Given the description of an element on the screen output the (x, y) to click on. 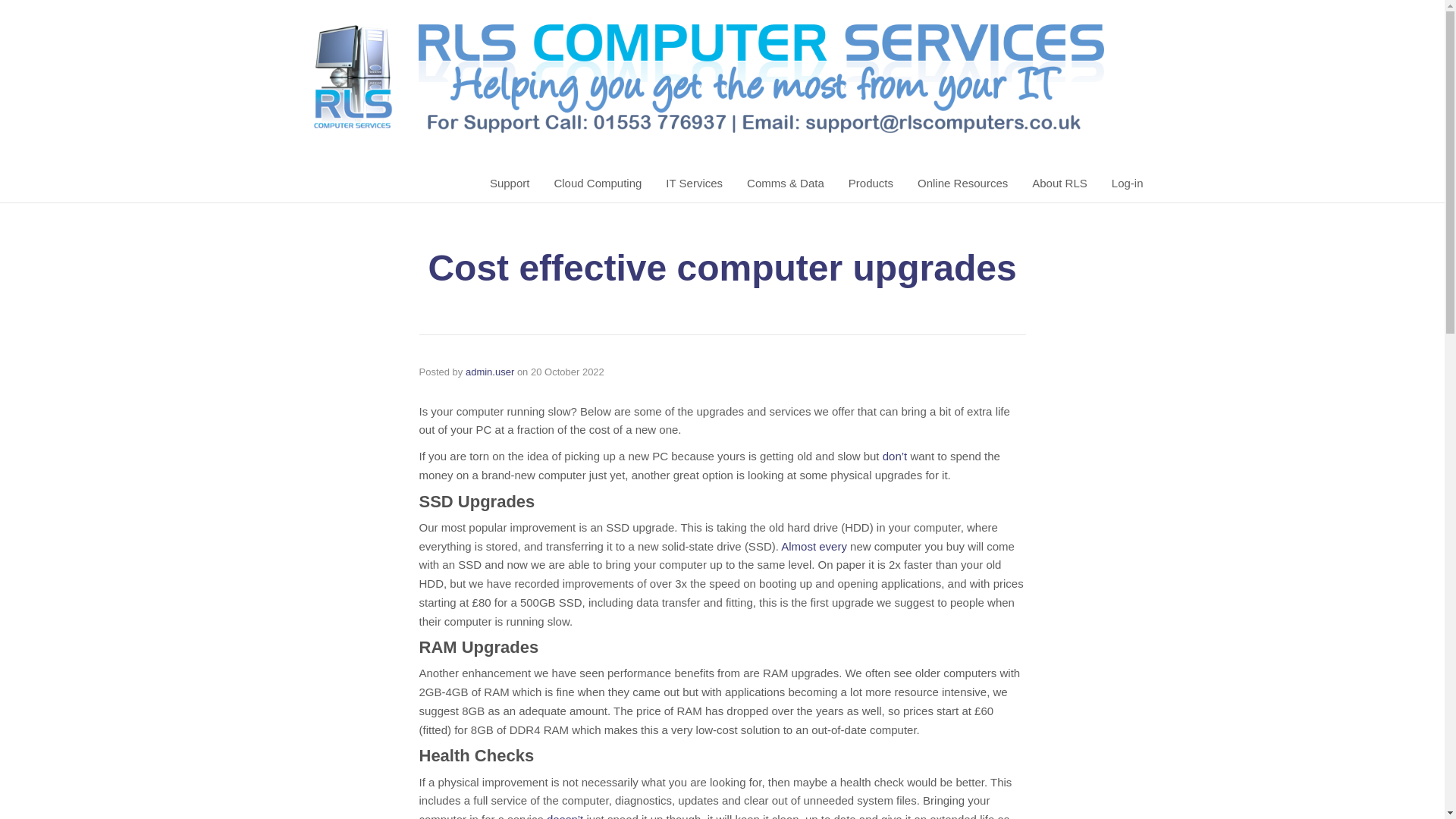
About RLS (1059, 183)
Products (870, 183)
Support (509, 183)
admin.user (489, 371)
Online Resources (962, 183)
IT Services (693, 183)
Almost every (813, 545)
Cloud Computing (597, 183)
Posts by admin.user (489, 371)
